Given the description of an element on the screen output the (x, y) to click on. 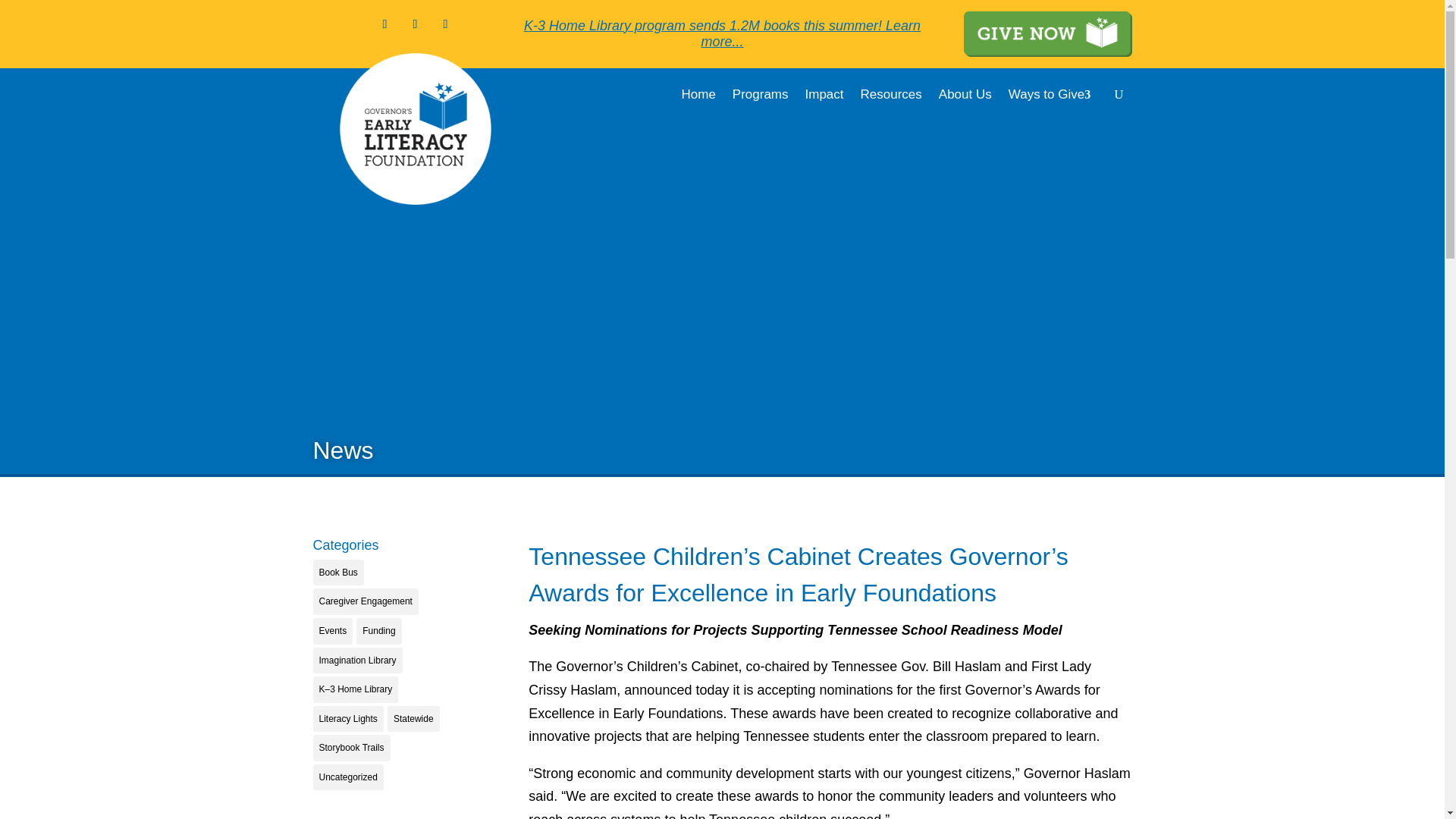
Home (697, 97)
Caregiver Engagement (365, 601)
Follow on Facebook (384, 24)
Funding (378, 631)
Events (332, 631)
Imagination Library (357, 660)
Programs (760, 97)
Storybook Trails (351, 747)
Book Bus (337, 572)
About Us (965, 97)
Follow on Instagram (415, 24)
Statewide (413, 718)
Impact (824, 97)
Ways to Give (1057, 97)
